Given the description of an element on the screen output the (x, y) to click on. 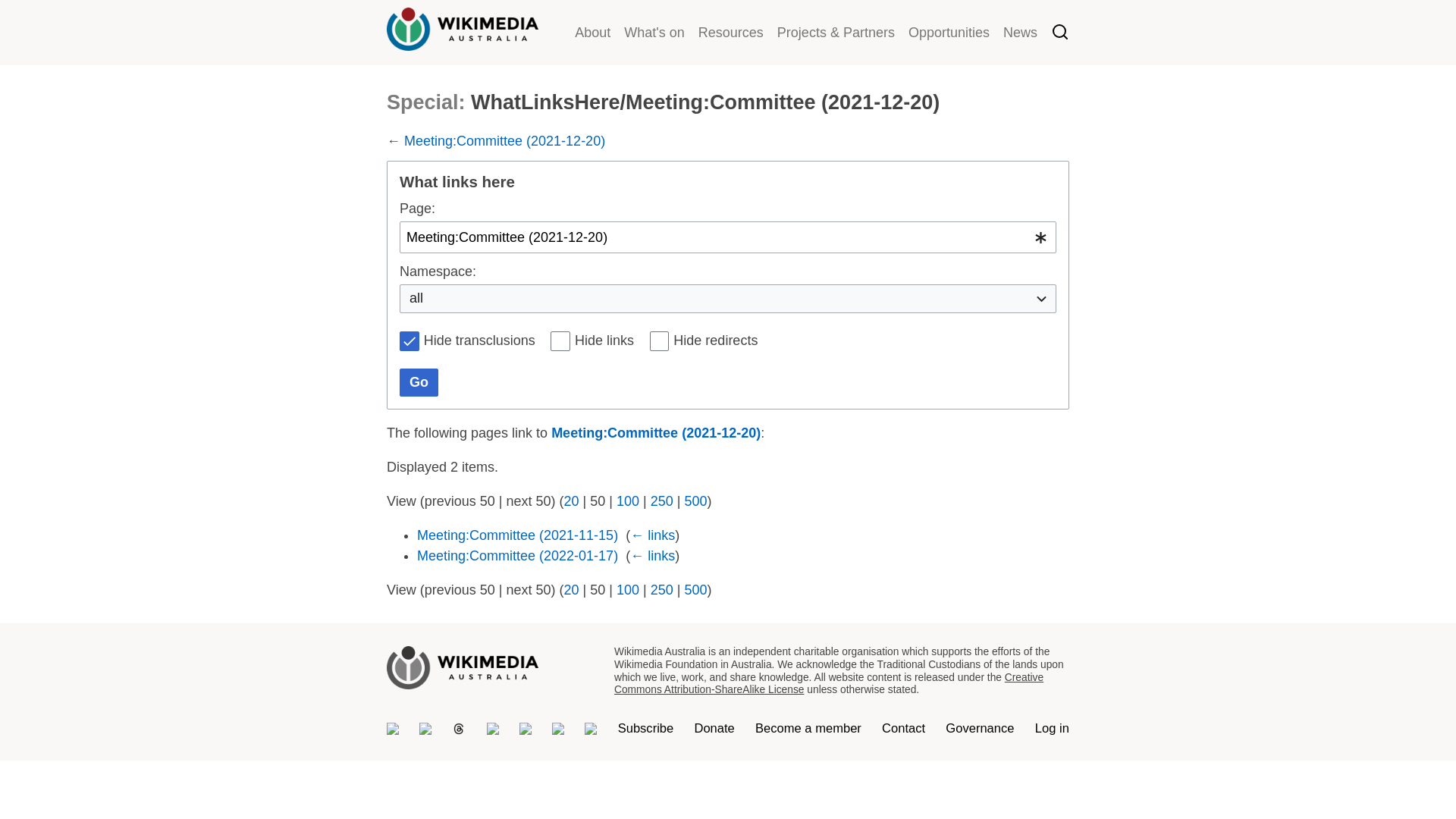
20 Element type: text (570, 500)
Log in Element type: text (1052, 728)
News Element type: text (1020, 32)
250 Element type: text (661, 589)
Become a member Element type: text (808, 728)
Wikimedia Australia Element type: hover (462, 40)
Follow us on Threads Element type: hover (458, 728)
Opportunities Element type: text (948, 32)
Projects & Partners Element type: text (835, 32)
Meeting:Committee (2021-12-20) Element type: text (655, 432)
20 Element type: text (570, 589)
100 Element type: text (627, 500)
Donate Element type: text (713, 728)
500 Element type: text (695, 500)
Special:Search Element type: hover (1060, 33)
Follow us on LinkedIn Element type: hover (558, 728)
Meeting:Committee (2021-11-15) Element type: text (517, 534)
Follow us on YouTube Element type: hover (590, 728)
Go Element type: text (992, 54)
Follow us on X Element type: hover (425, 728)
100 Element type: text (627, 589)
250 Element type: text (661, 500)
Follow us on Mastodon Element type: hover (392, 728)
Follow us on Instagram Element type: hover (492, 728)
Resources Element type: text (730, 32)
About Element type: text (592, 32)
Go Element type: text (418, 382)
What's on Element type: text (654, 32)
Meeting:Committee (2022-01-17) Element type: text (517, 555)
500 Element type: text (695, 589)
Subscribe Element type: text (646, 728)
Creative Commons Attribution-ShareAlike License Element type: text (828, 683)
Governance Element type: text (979, 728)
Meeting:Committee (2021-12-20) Element type: text (504, 140)
Follow us on Facebook Element type: hover (525, 728)
Contact Element type: text (903, 728)
